Given the description of an element on the screen output the (x, y) to click on. 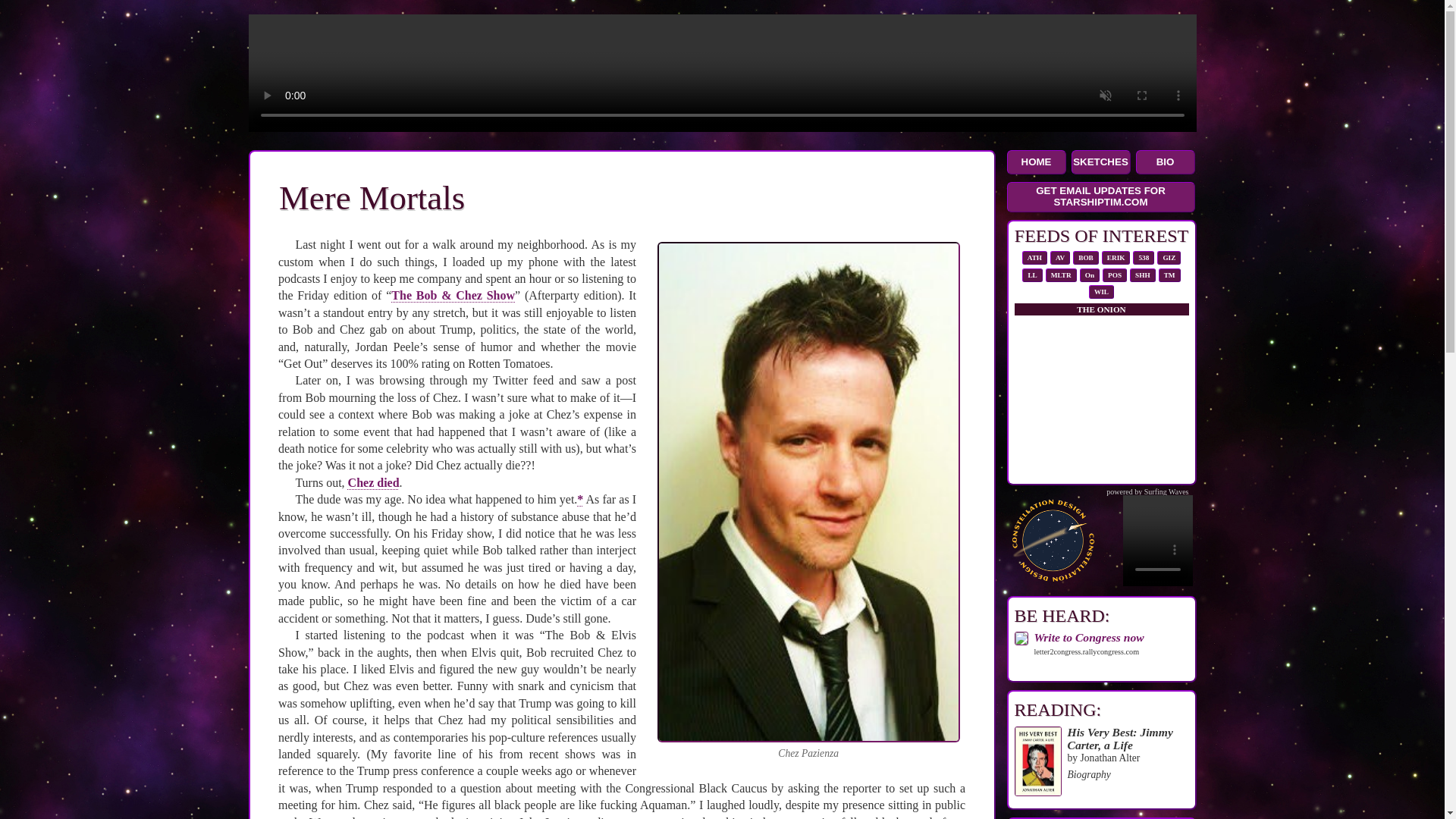
BOB (1085, 257)
AV (1059, 257)
ATH (1034, 257)
THE ONION (1101, 308)
SHH (1142, 275)
Meet Your Host (1165, 161)
GIZ (1167, 257)
On (1089, 275)
MLTR (1061, 275)
Write to Congress now (1088, 636)
